Given the description of an element on the screen output the (x, y) to click on. 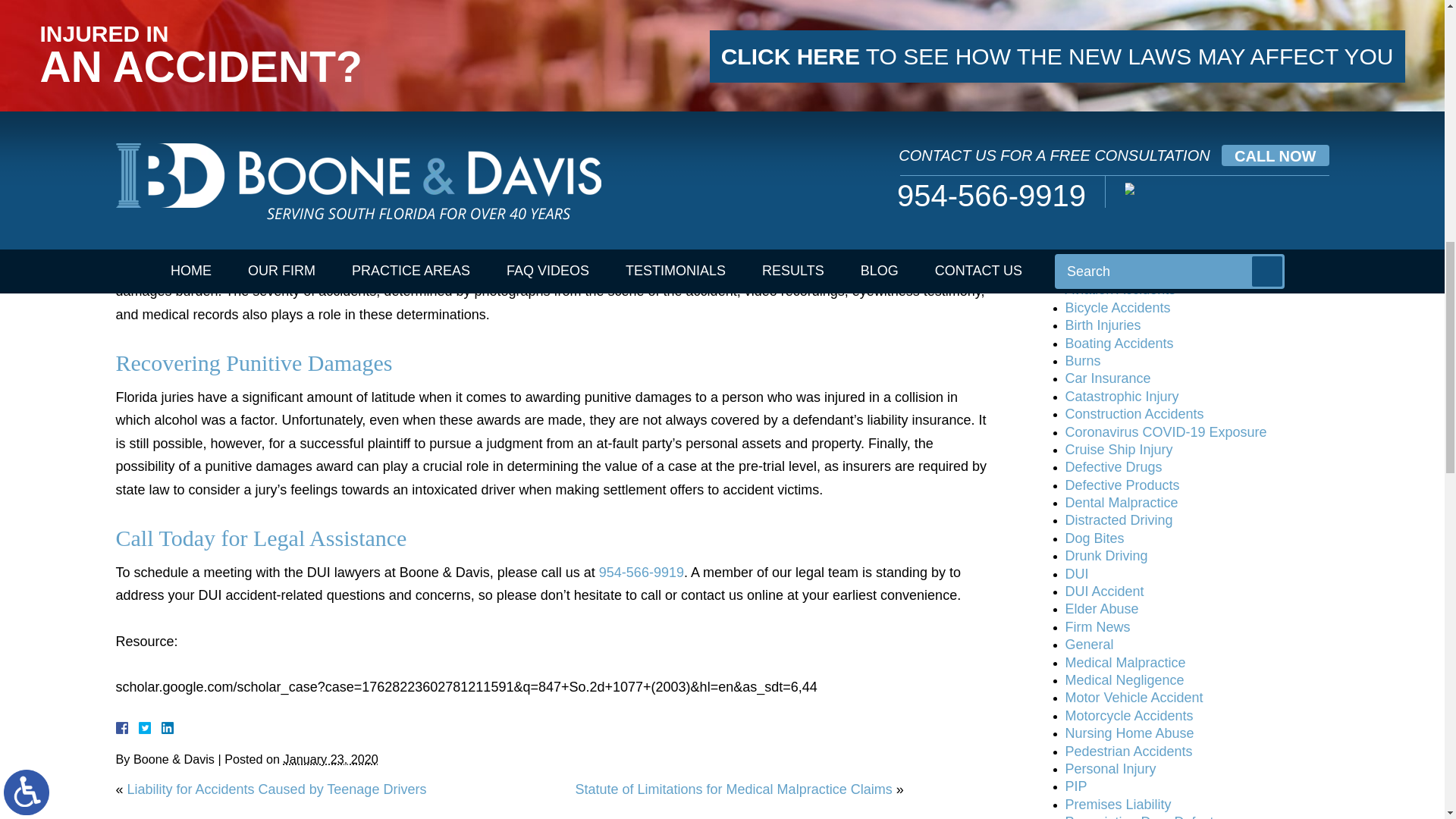
2020-01-23T06:23:32-0800 (330, 758)
Facebook (139, 727)
Twitter (149, 727)
LinkedIn (160, 727)
